Given the description of an element on the screen output the (x, y) to click on. 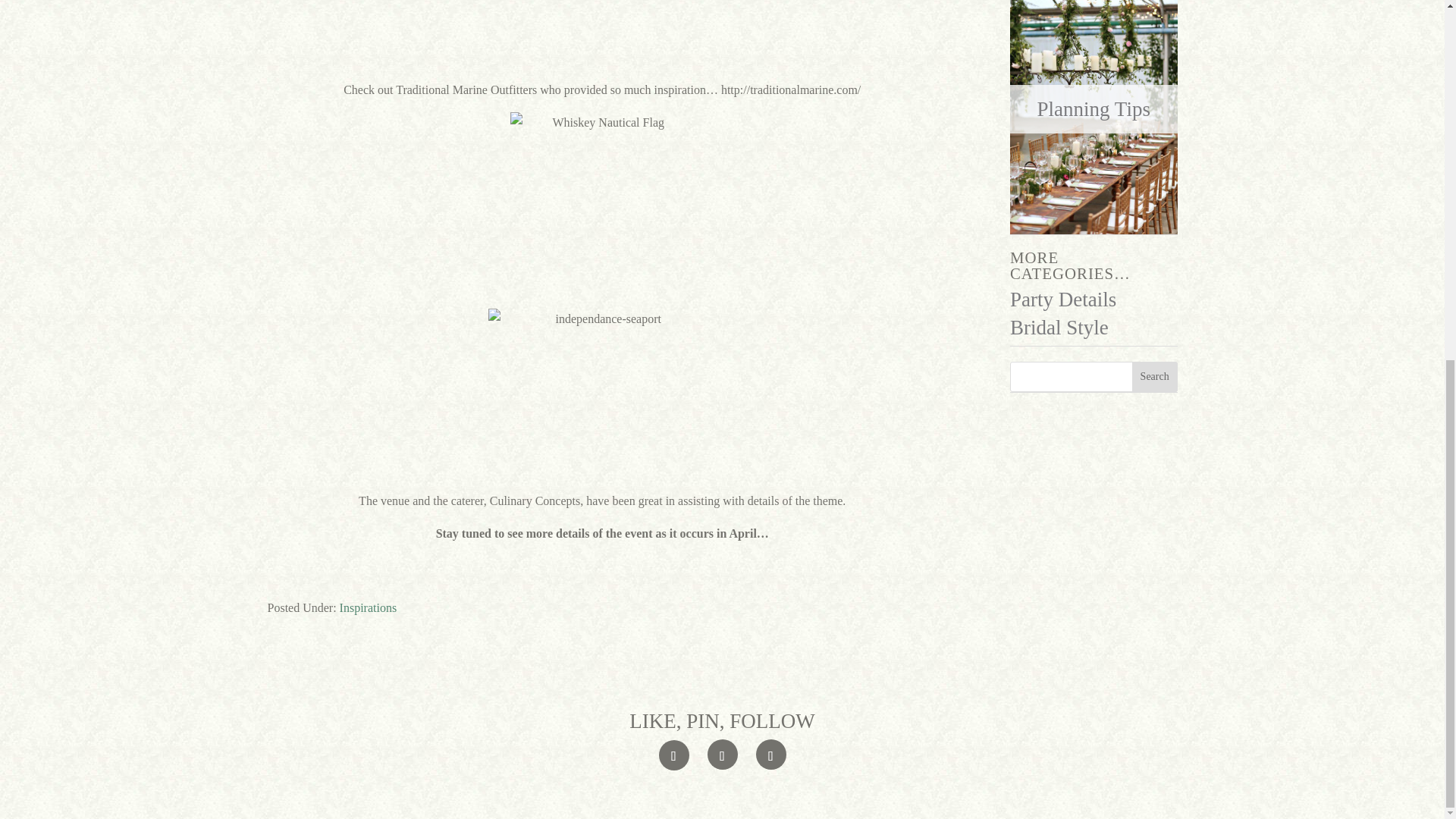
Inspirations (368, 607)
Search (1154, 376)
Planning Tips (1093, 108)
Party Details (1063, 299)
Bridal Style (1059, 327)
Search (1154, 376)
